Given the description of an element on the screen output the (x, y) to click on. 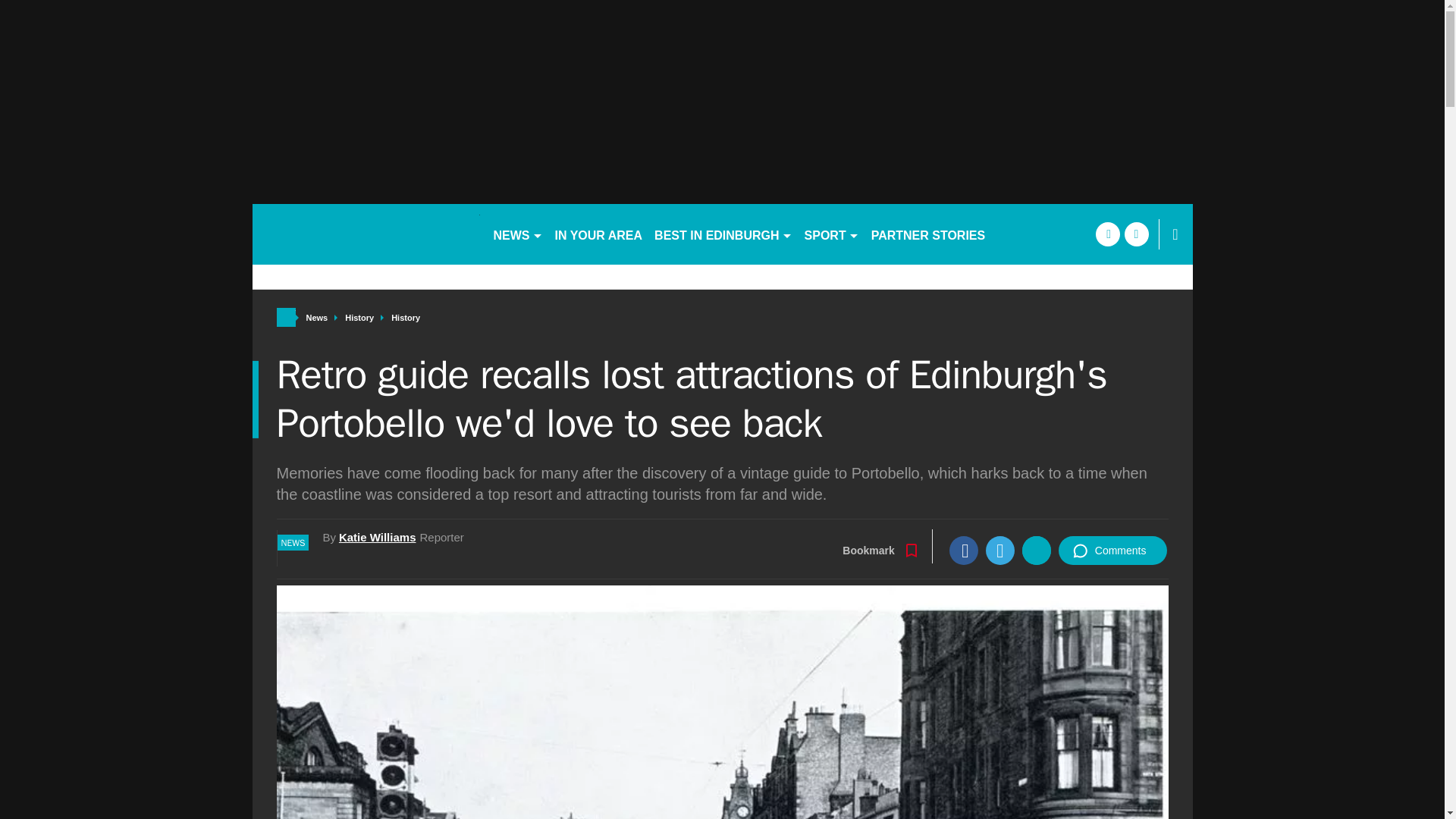
PARTNER STORIES (927, 233)
NEWS (517, 233)
IN YOUR AREA (598, 233)
BEST IN EDINBURGH (722, 233)
Facebook (963, 550)
VOUCHER CODES (1056, 233)
edinburghlive (365, 233)
SPORT (830, 233)
twitter (1136, 233)
facebook (1106, 233)
